Given the description of an element on the screen output the (x, y) to click on. 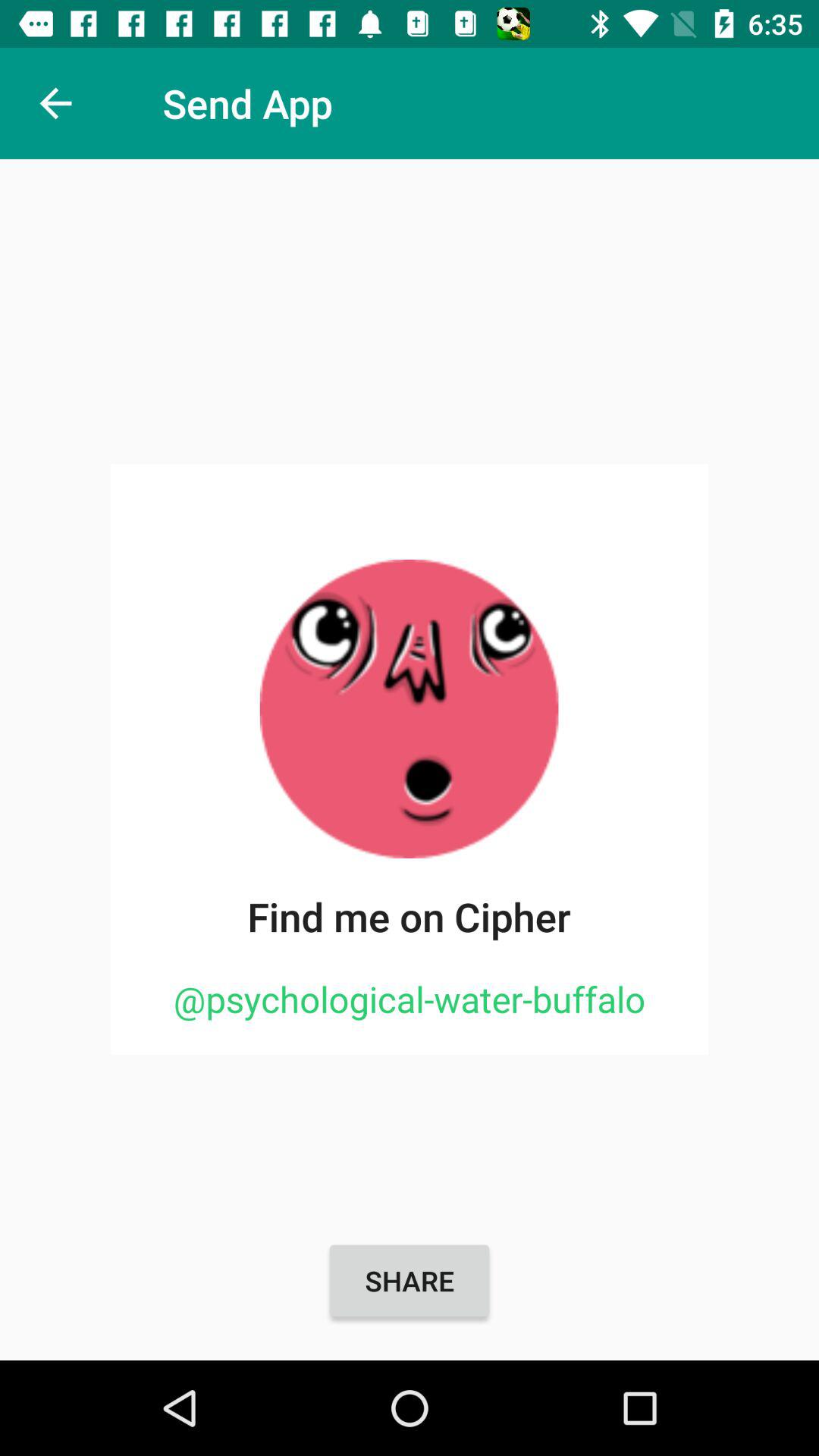
swipe until share item (409, 1280)
